Given the description of an element on the screen output the (x, y) to click on. 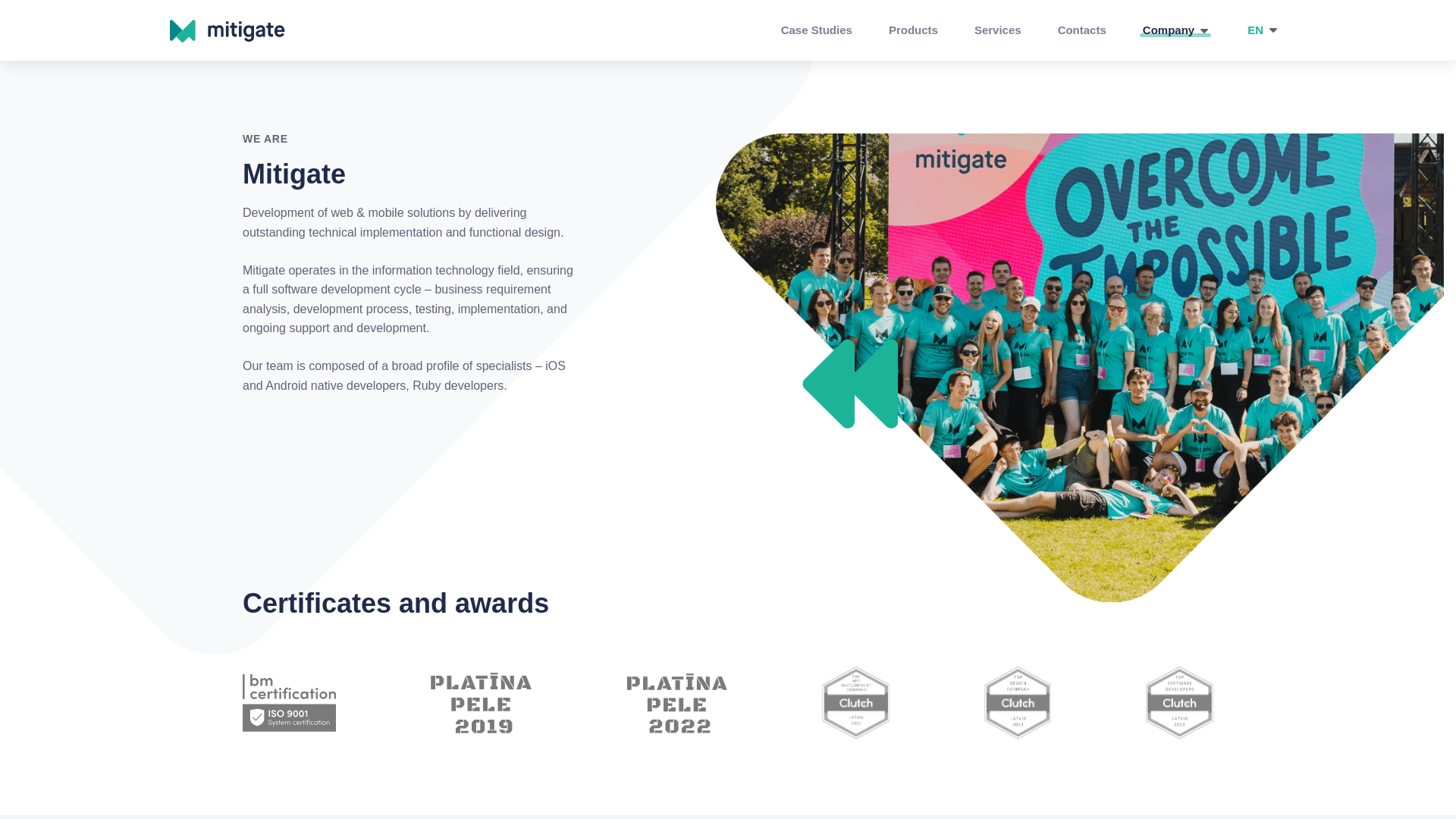
Services (998, 29)
Case Studies (816, 29)
Company (1175, 29)
Products (912, 29)
Contacts (1081, 29)
